Given the description of an element on the screen output the (x, y) to click on. 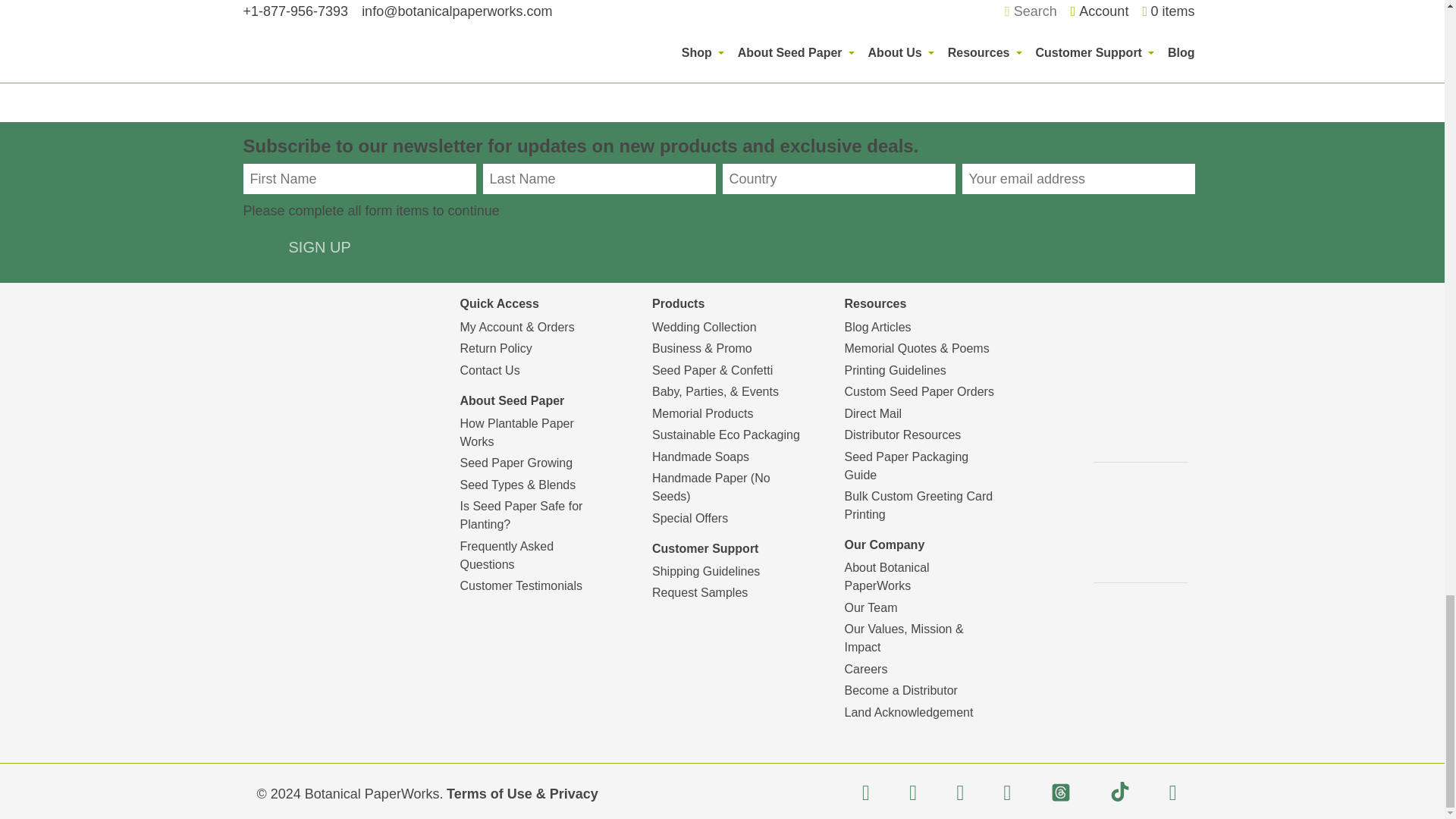
Sign up (319, 246)
